Given the description of an element on the screen output the (x, y) to click on. 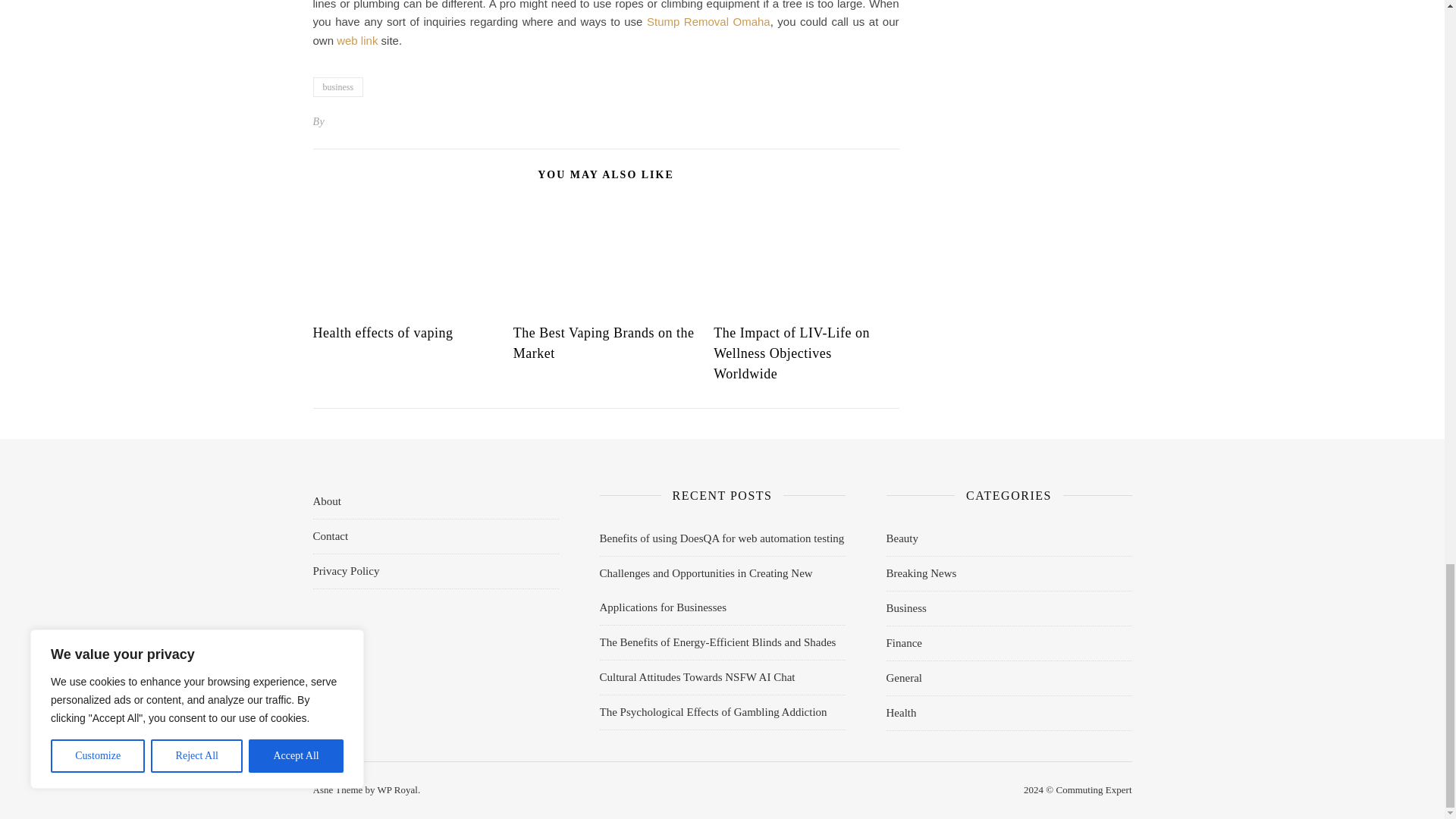
Stump Removal Omaha (708, 21)
business (337, 86)
web link (356, 40)
